Given the description of an element on the screen output the (x, y) to click on. 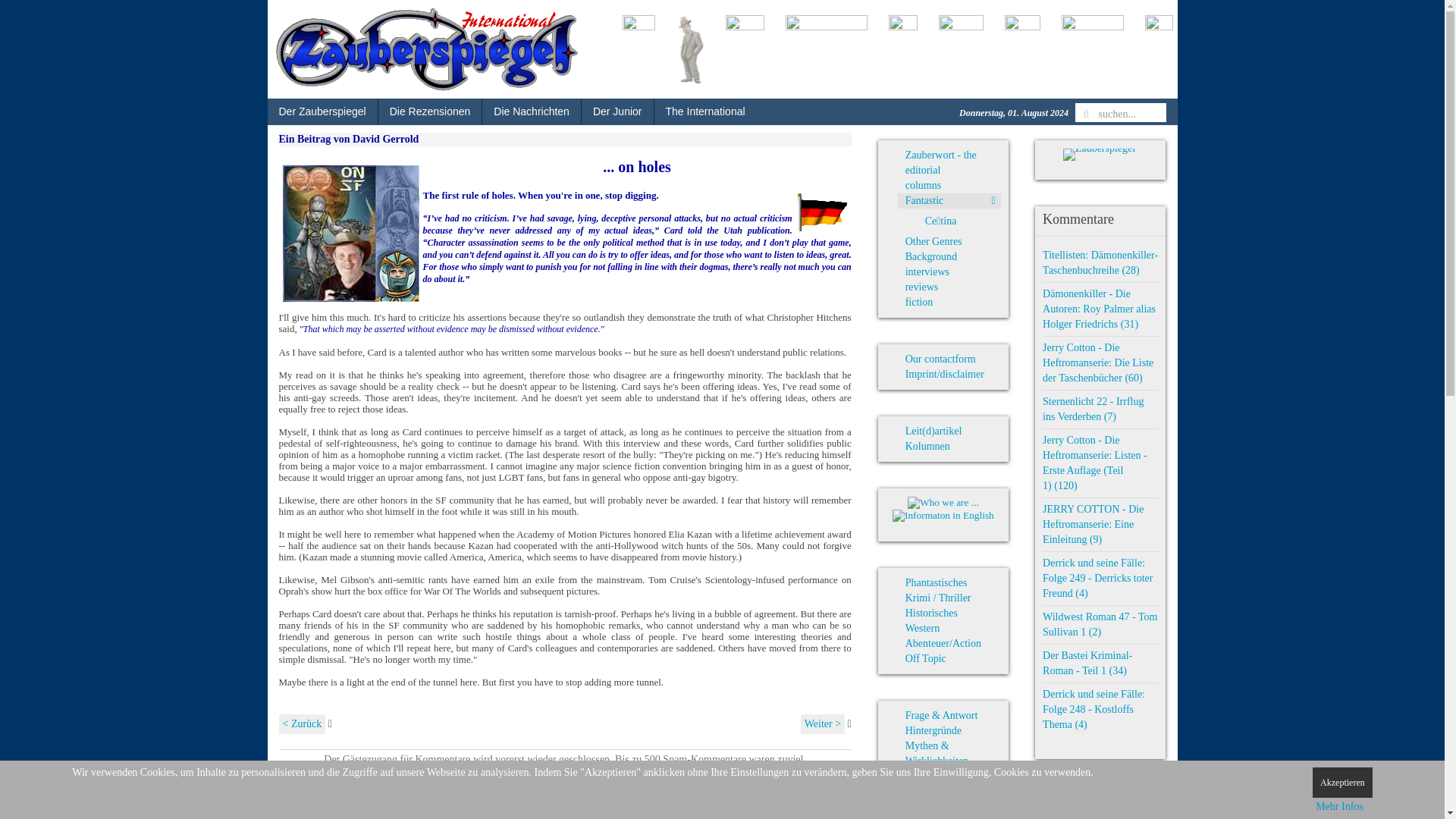
JComments (833, 808)
Fantastic (949, 200)
Zauberspiegel International (426, 48)
The International (704, 111)
JComments (833, 808)
columns (949, 185)
My 2 cts (350, 233)
Der Zauberspiegel (321, 111)
Die Rezensionen (429, 111)
interviews (949, 272)
Zauberwort - the editorial (949, 163)
Der Junior (616, 111)
fiction (949, 302)
reviews (949, 287)
Who we are ... (942, 502)
